Given the description of an element on the screen output the (x, y) to click on. 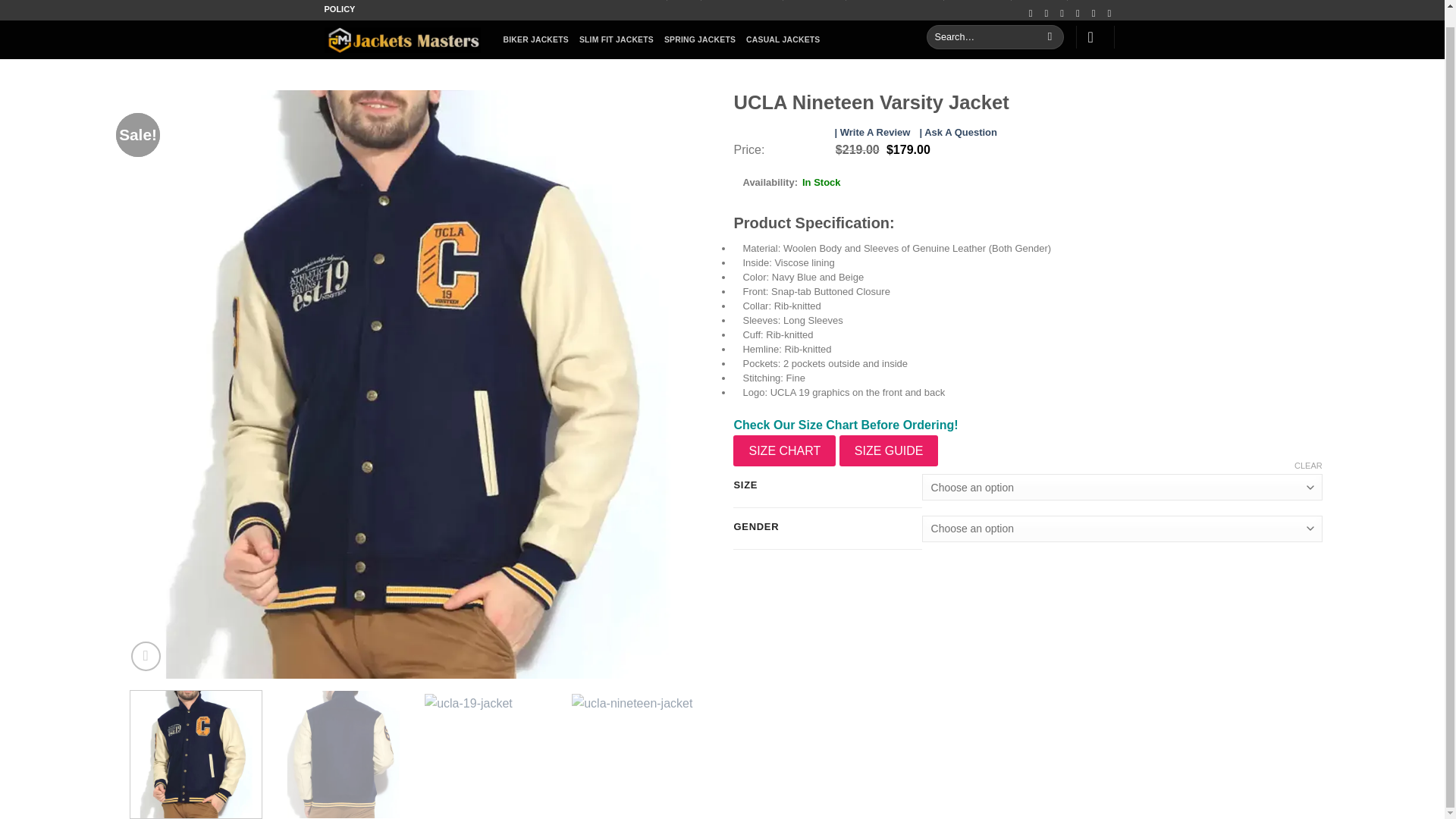
SLIM FIT JACKETS (616, 39)
Size Chart (642, 2)
Jackets Masters (402, 40)
Search (1050, 37)
About (684, 2)
Privacy Policy (815, 2)
BIKER JACKETS (536, 39)
SPRING JACKETS (699, 39)
CASUAL JACKETS (782, 39)
